Given the description of an element on the screen output the (x, y) to click on. 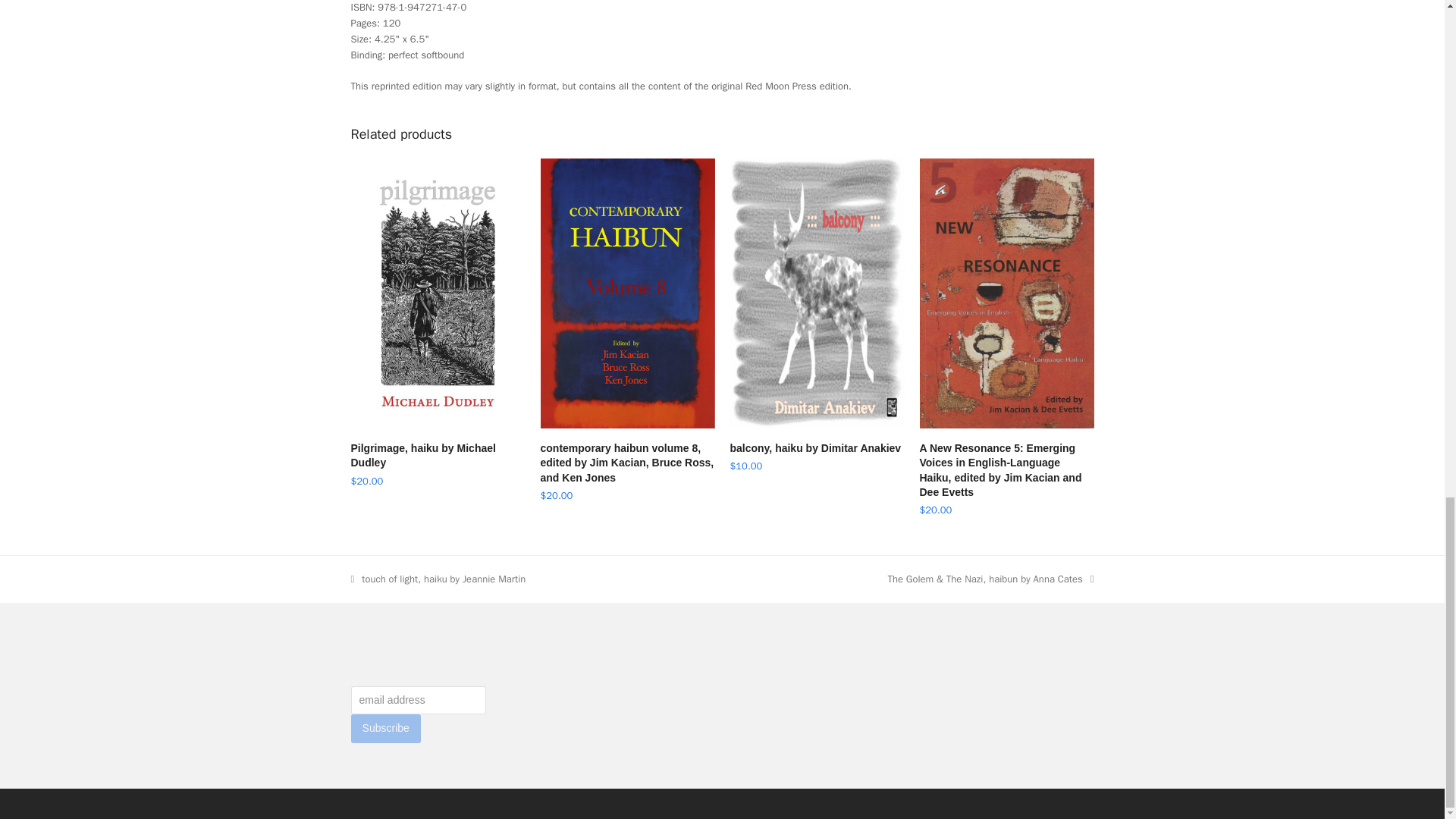
Pilgrimage, haiku by Michael Dudley (437, 455)
Subscribe (385, 728)
balcony, haiku by Dimitar Anakiev (437, 578)
Subscribe (816, 448)
